Given the description of an element on the screen output the (x, y) to click on. 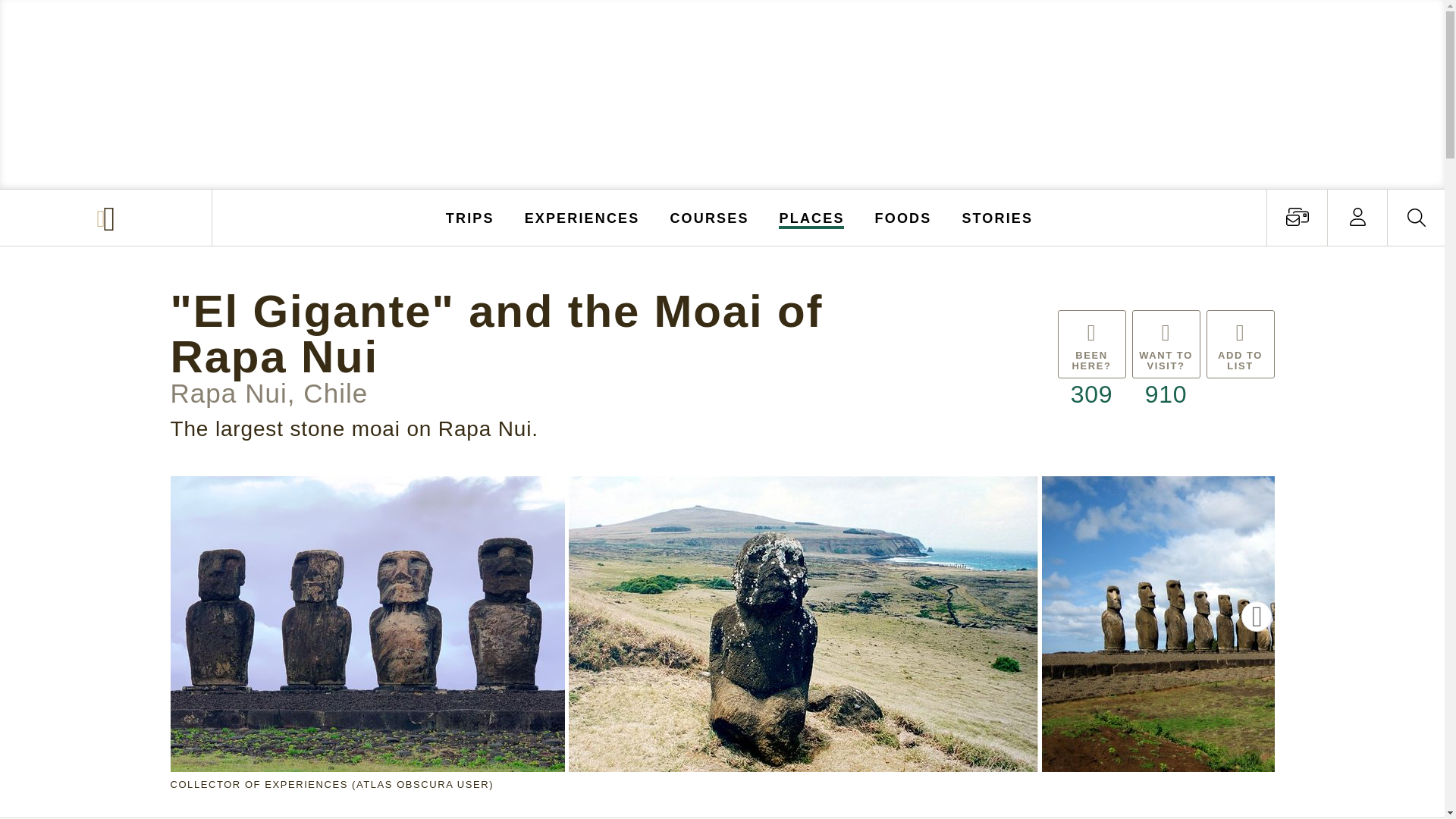
COURSES (707, 217)
EXPERIENCES (582, 217)
PLACES (812, 217)
Add to list (1239, 361)
TRIPS (469, 217)
